Given the description of an element on the screen output the (x, y) to click on. 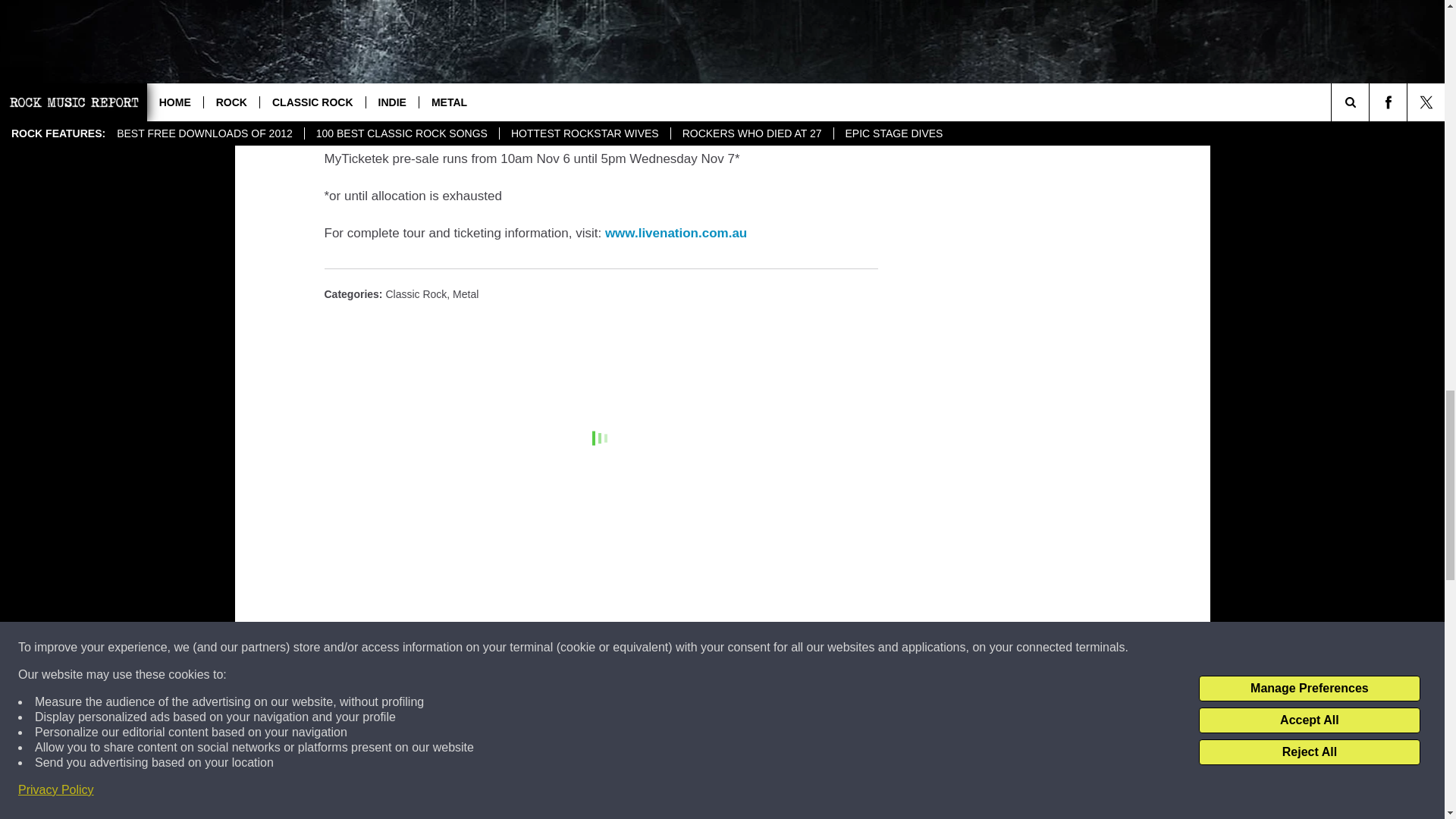
Metal (465, 294)
Classic Rock (415, 294)
www.livenation.com.au (675, 233)
